Given the description of an element on the screen output the (x, y) to click on. 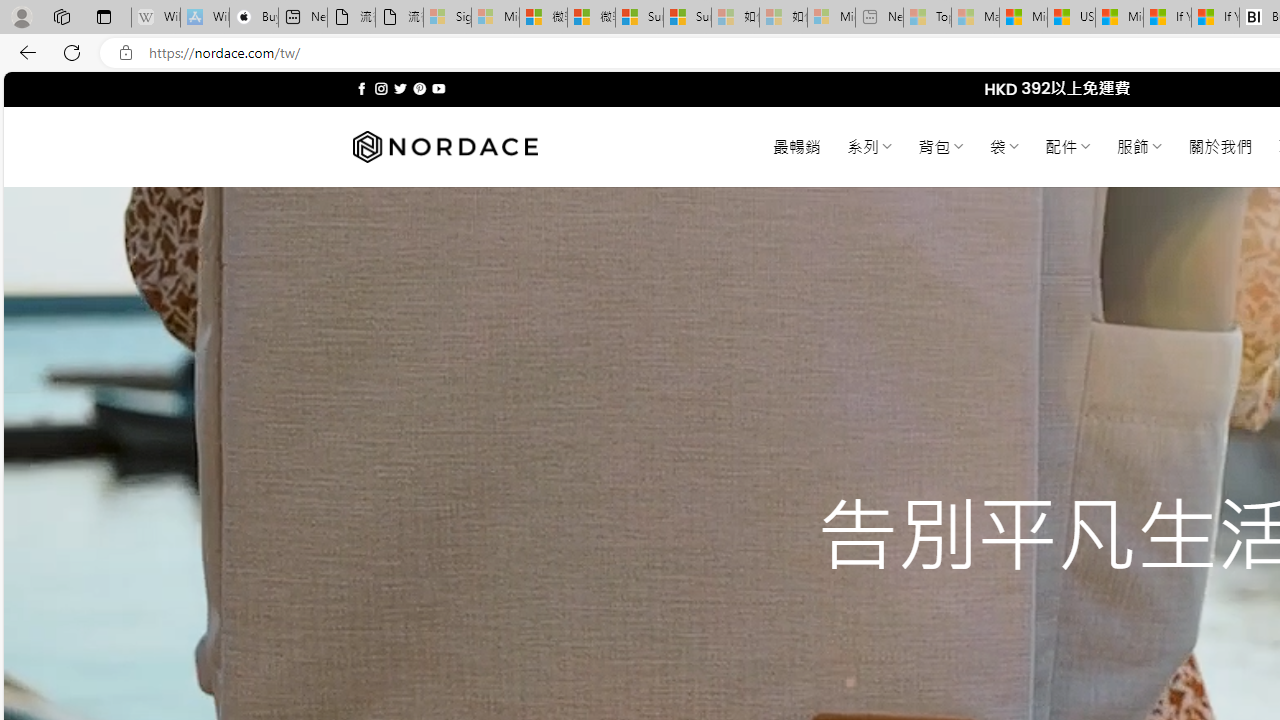
Follow on YouTube (438, 88)
Microsoft Services Agreement - Sleeping (495, 17)
Marine life - MSN - Sleeping (975, 17)
